Given the description of an element on the screen output the (x, y) to click on. 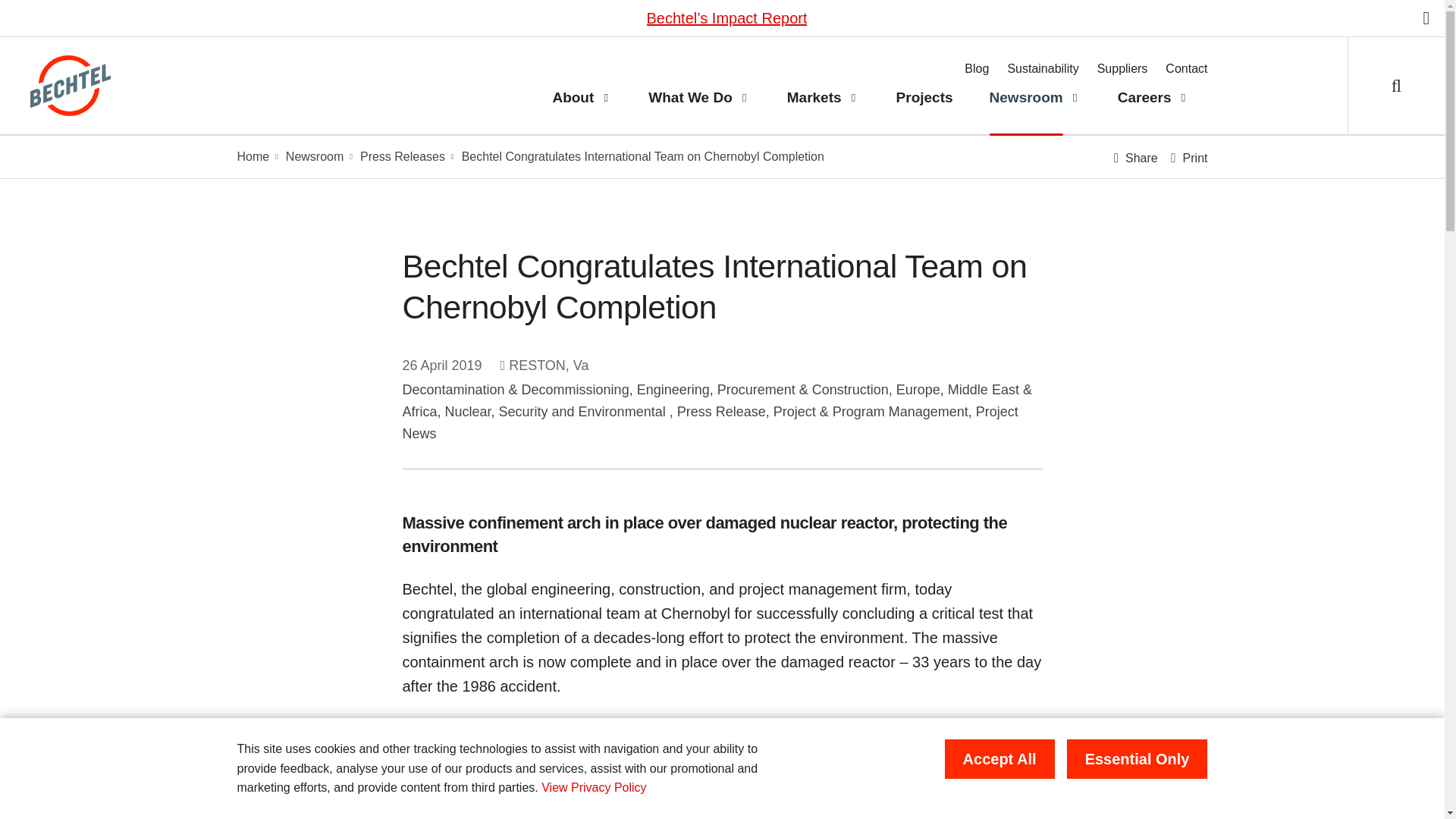
Markets (804, 97)
What We Do (681, 97)
Blog (975, 68)
Sustainability (1042, 68)
Suppliers (1122, 68)
Accept All (999, 758)
View Privacy Policy (593, 787)
Contact (1186, 68)
Essential Only (1137, 758)
